Given the description of an element on the screen output the (x, y) to click on. 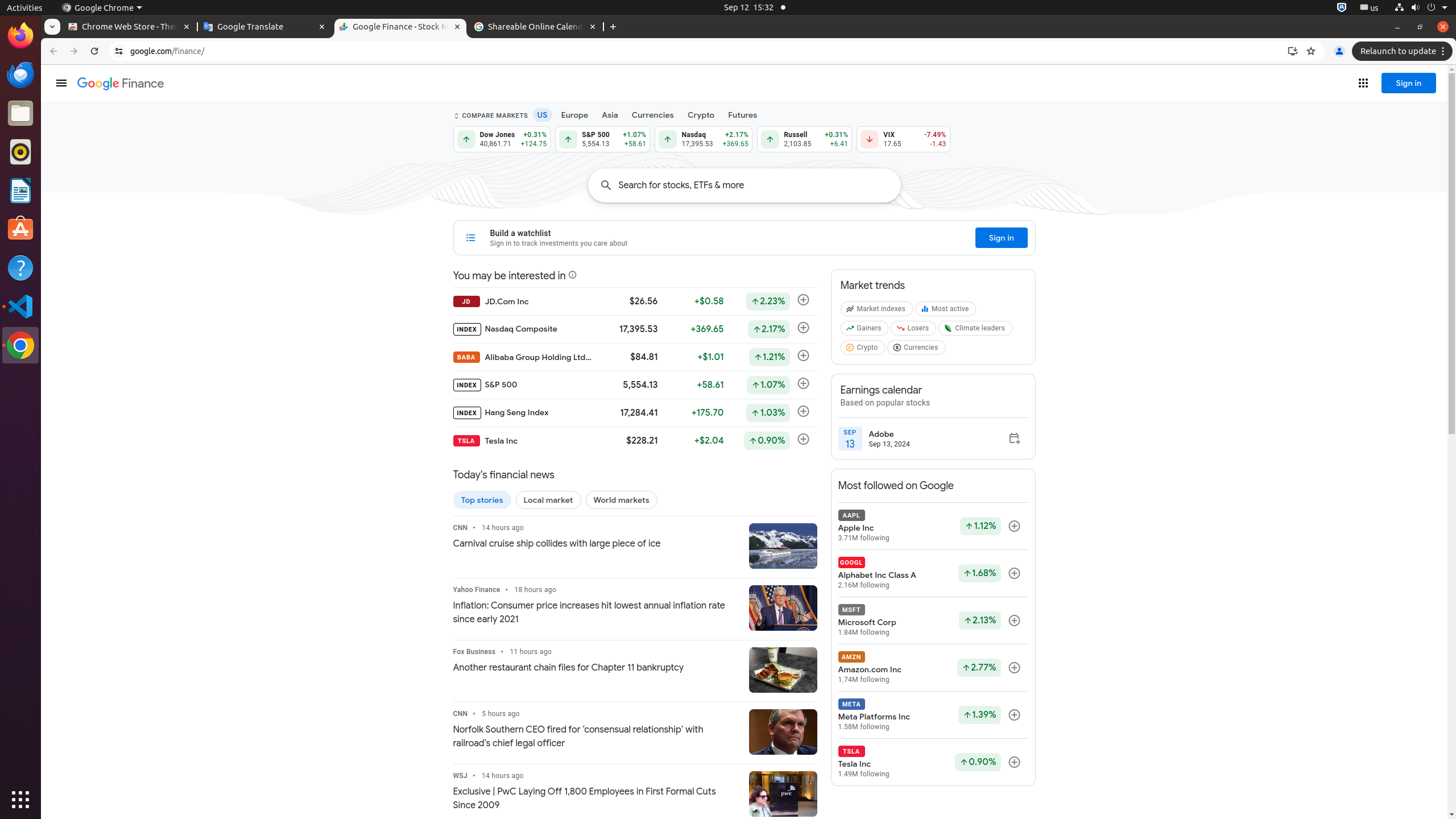
You Element type: push-button (1339, 50)
Nasdaq 17,395.53 Up by 2.17% +369.65 Element type: link (703, 139)
Fox Business •  11 hours ago Another restaurant chain files for Chapter 11 bankruptcy Element type: link (595, 660)
Adobe Element type: link (889, 433)
AAPL Apple Inc 3.71M following Up by 1.12% Follow Element type: link (932, 525)
